Given the description of an element on the screen output the (x, y) to click on. 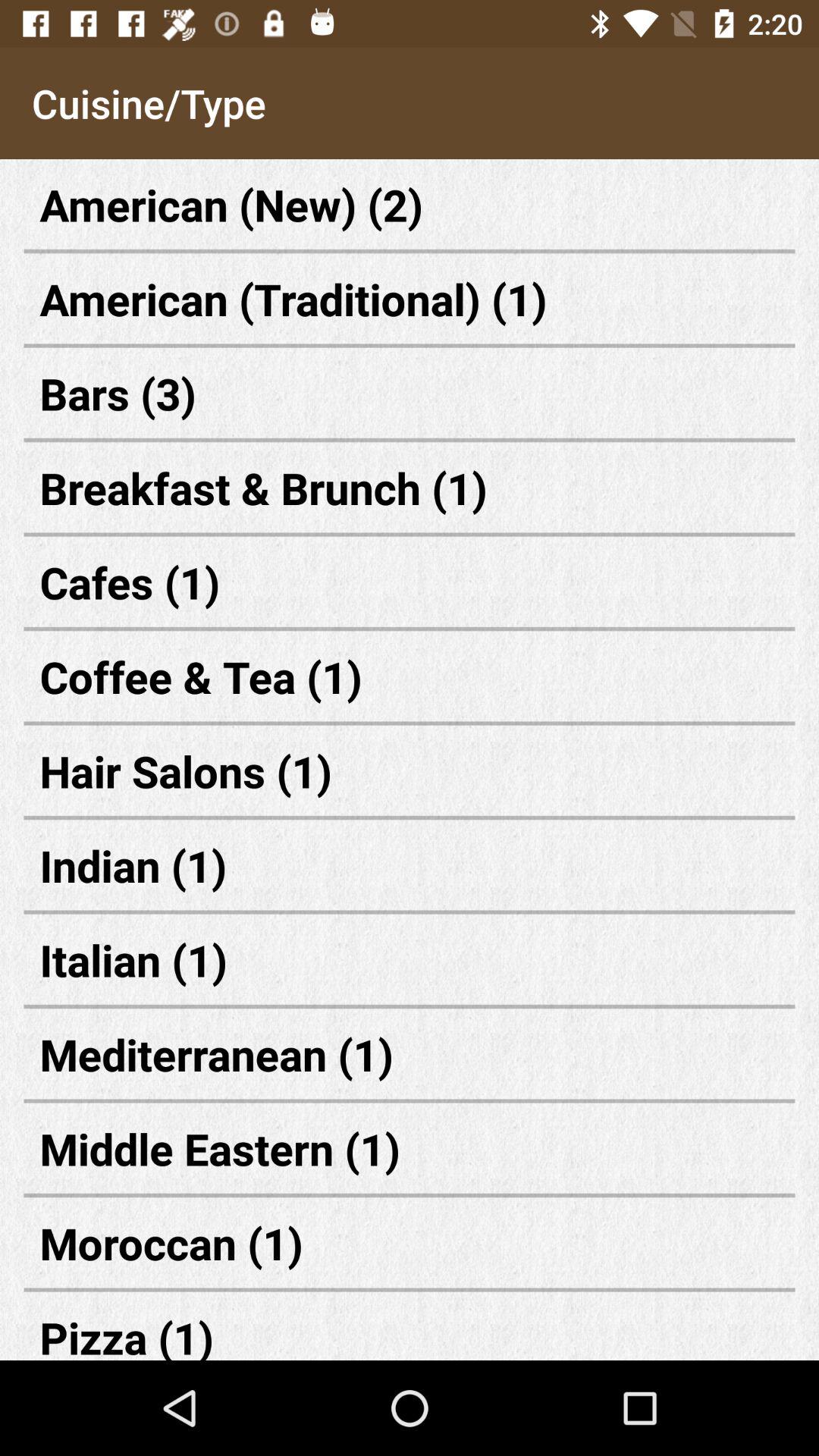
click on cafes 1 (409, 582)
click on indian 1 (409, 866)
select the text italian1 (409, 959)
click on american traditional 1 (409, 298)
select the third option from bottom (409, 1148)
select the option breakfast and brunch (409, 487)
click on the first text which says american new 2 (409, 203)
